Given the description of an element on the screen output the (x, y) to click on. 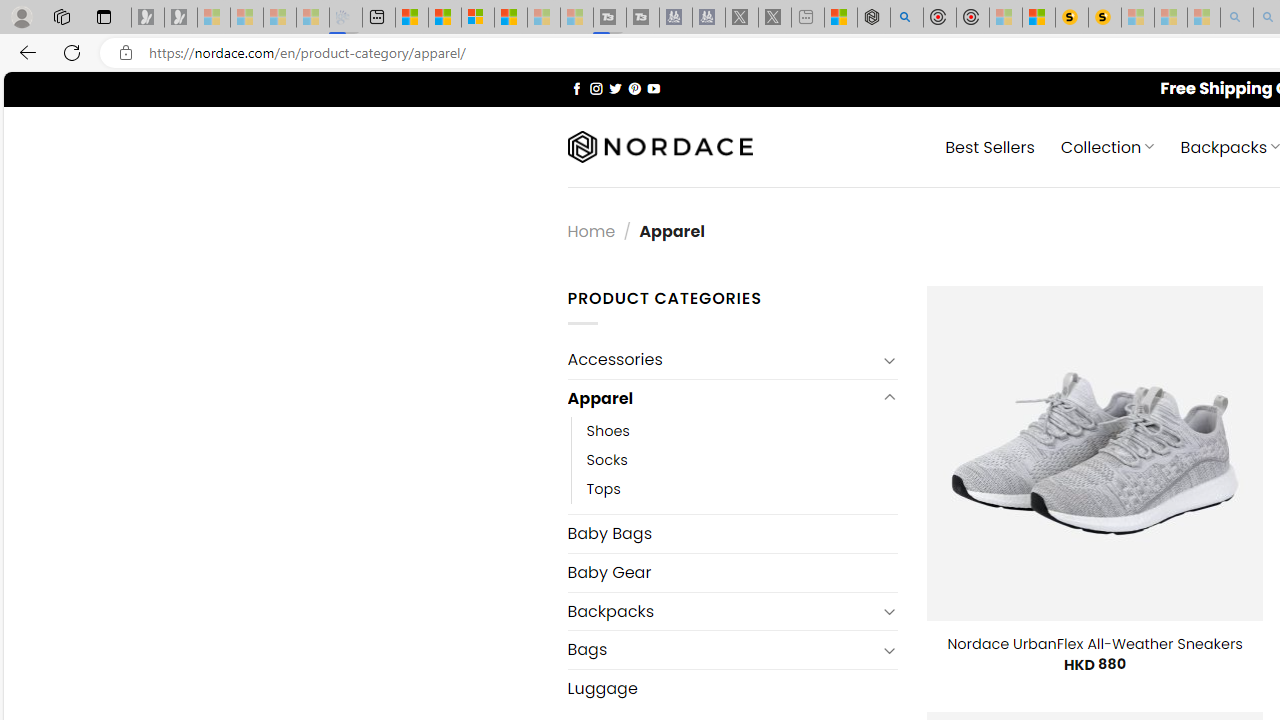
Accessories (721, 359)
Baby Gear (732, 571)
Tops (603, 489)
Apparel (721, 398)
Baby Gear (732, 571)
Socks (742, 460)
Overview (478, 17)
